Given the description of an element on the screen output the (x, y) to click on. 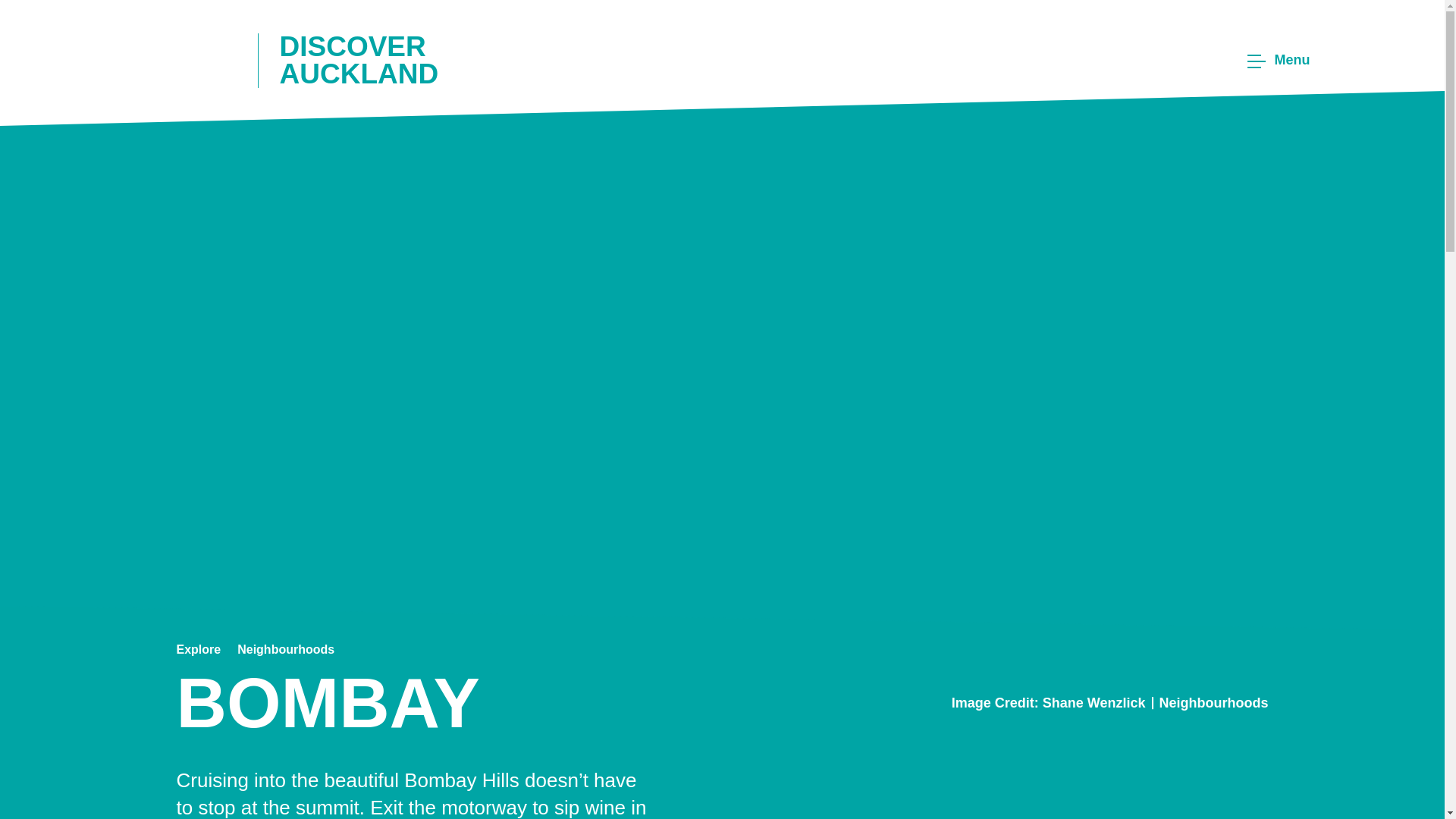
Neighbourhoods (285, 649)
Neighbourhoods (1213, 702)
Menu (1275, 60)
DISCOVER AUCKLAND (330, 60)
Explore (198, 649)
